Given the description of an element on the screen output the (x, y) to click on. 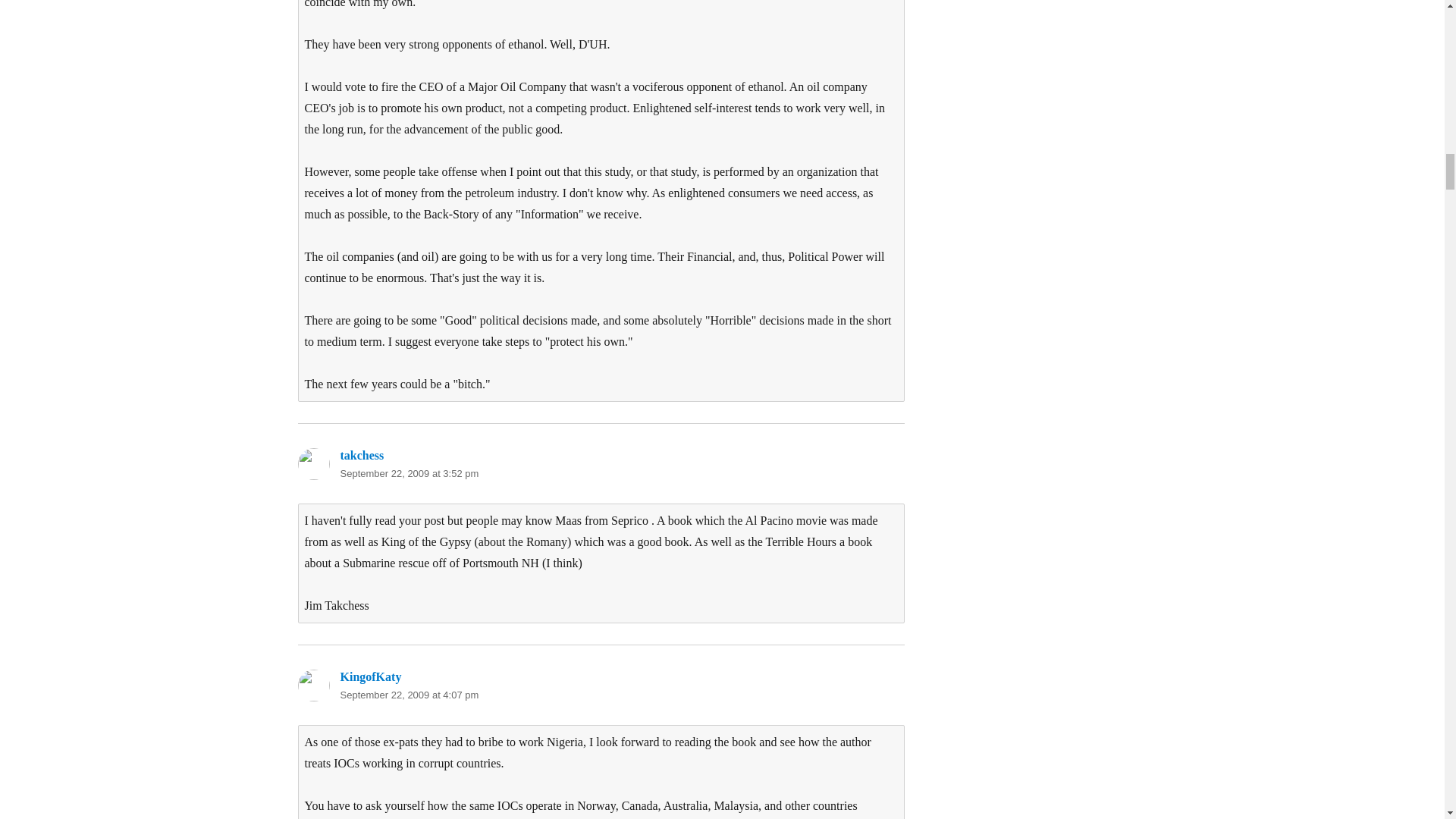
takchess (361, 454)
September 22, 2009 at 3:52 pm (409, 473)
